Given the description of an element on the screen output the (x, y) to click on. 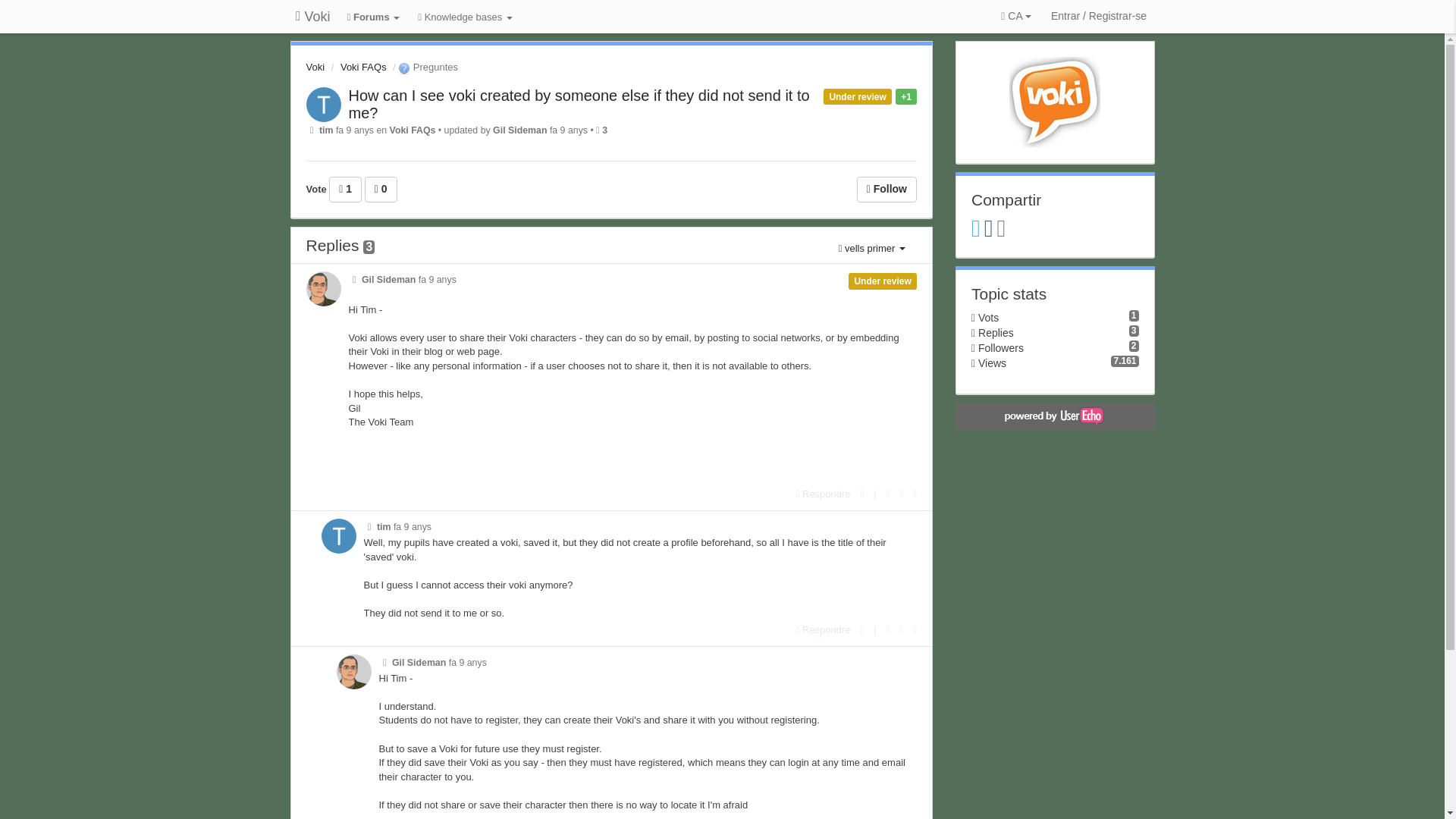
Preguntes (427, 66)
CA (1015, 16)
Forums (374, 17)
Knowledge bases (465, 17)
Voki (312, 16)
